Given the description of an element on the screen output the (x, y) to click on. 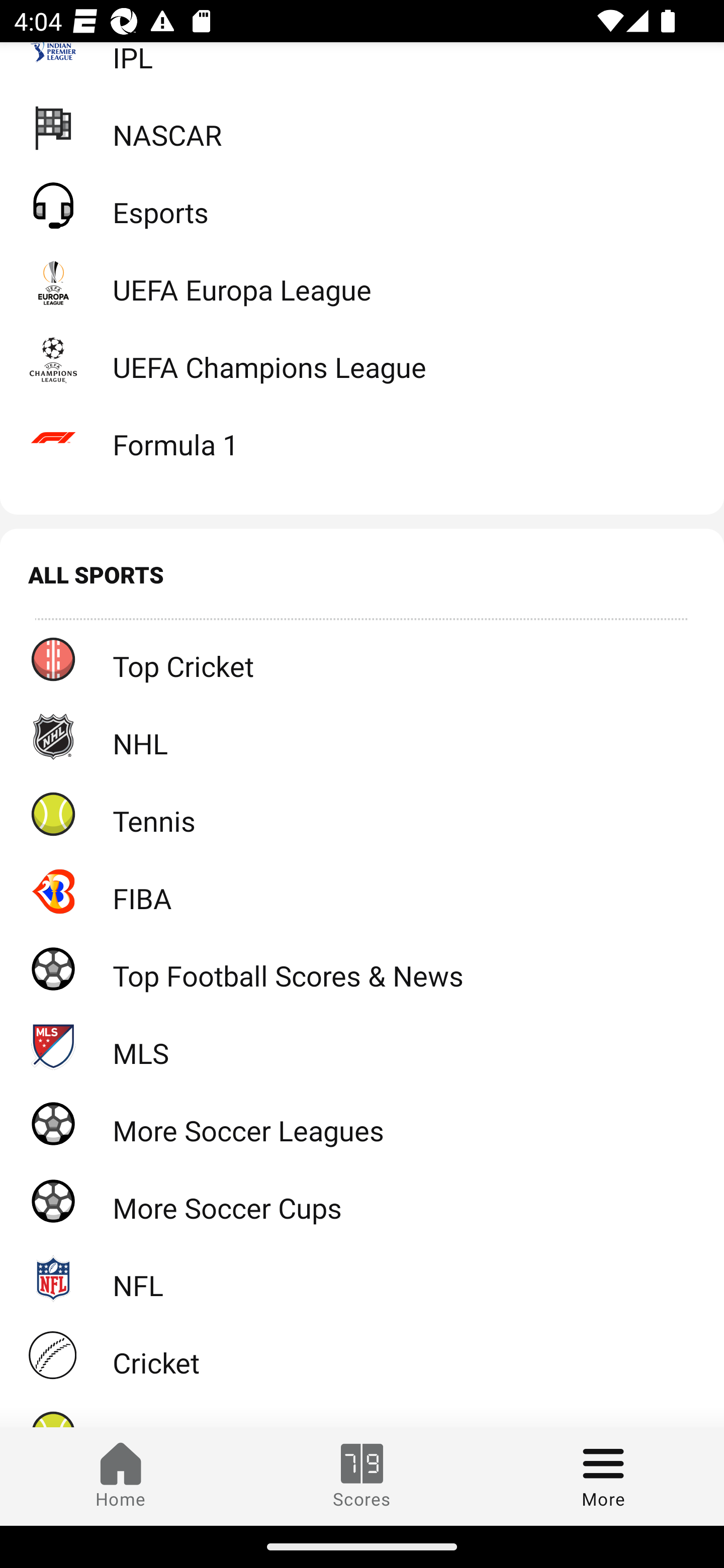
NASCAR (362, 127)
Esports (362, 204)
UEFA Europa League (362, 282)
UEFA Champions League (362, 359)
Formula 1 (362, 437)
Top Cricket (362, 658)
NHL (362, 735)
Tennis (362, 813)
FIBA  (362, 890)
Top Football Scores & News (362, 967)
MLS (362, 1045)
More Soccer Leagues (362, 1123)
More Soccer Cups (362, 1199)
NFL (362, 1277)
Cricket G Cricket (362, 1355)
Home (120, 1475)
Scores (361, 1475)
